Given the description of an element on the screen output the (x, y) to click on. 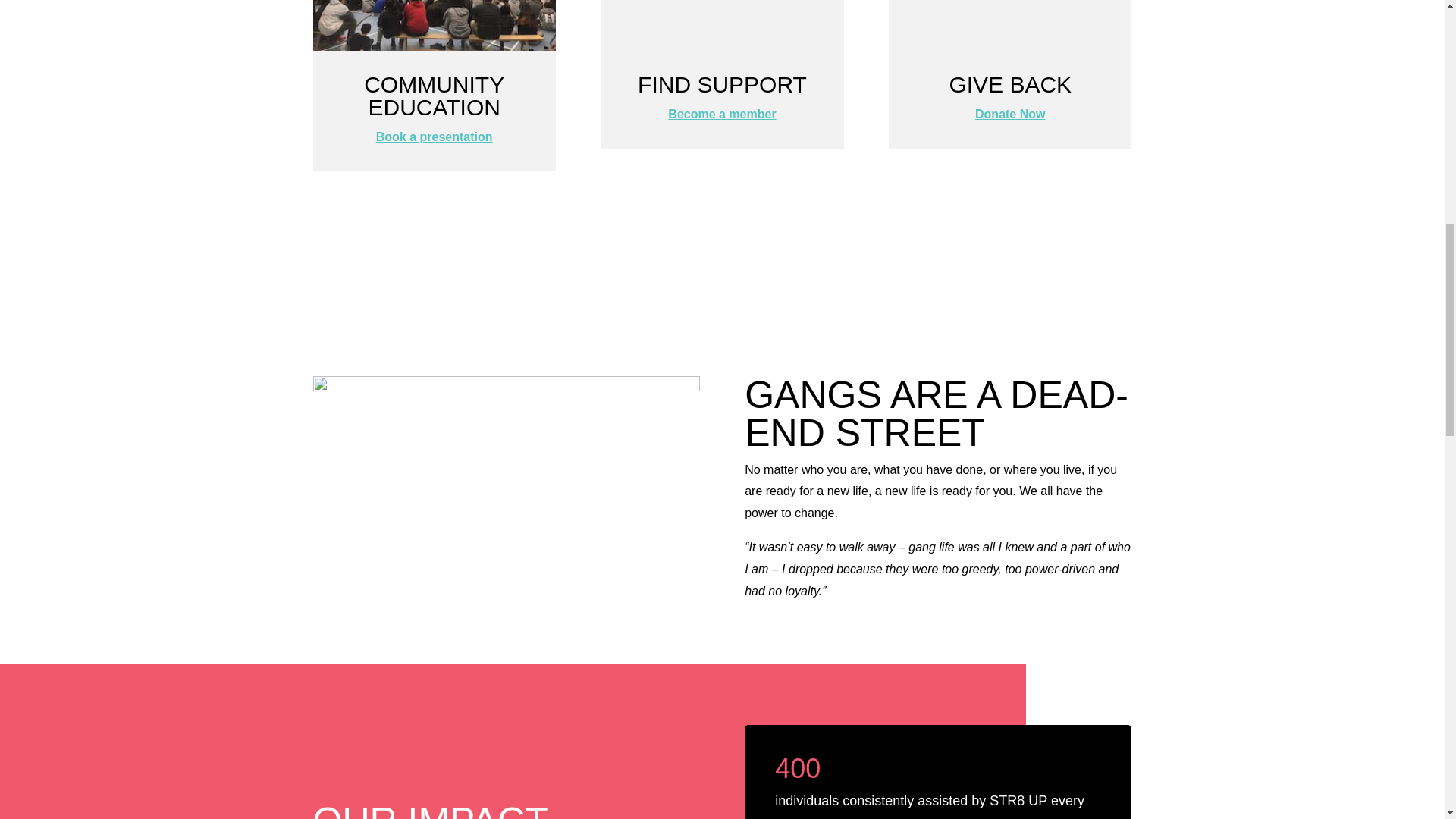
give-back (1009, 25)
mathiasartwork 4 (505, 483)
Become a member (722, 113)
Book a presentation (434, 136)
Donate Now (1010, 113)
